Given the description of an element on the screen output the (x, y) to click on. 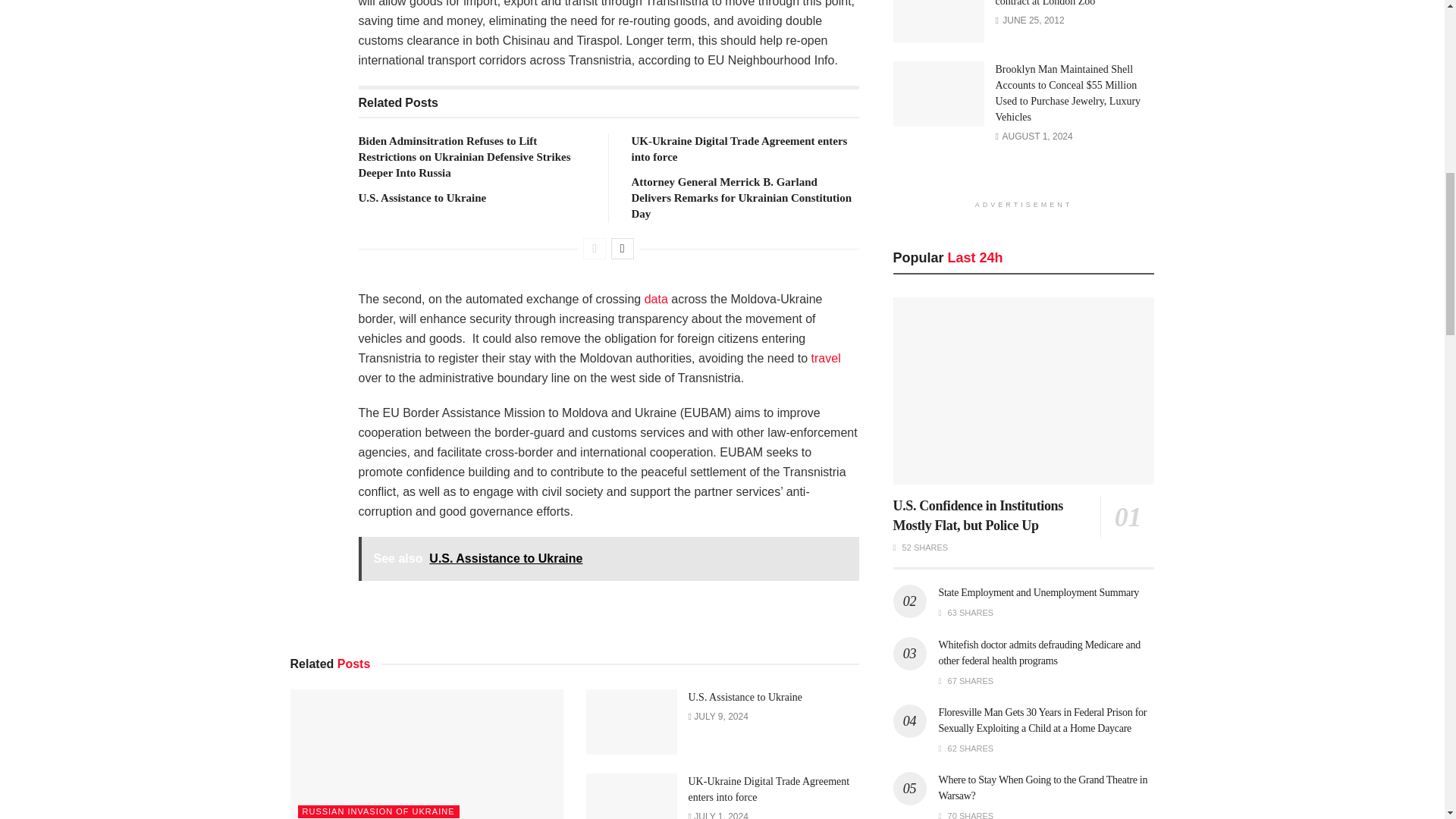
Technology (656, 298)
Previous (594, 248)
Next (622, 248)
Travel (825, 358)
